Given the description of an element on the screen output the (x, y) to click on. 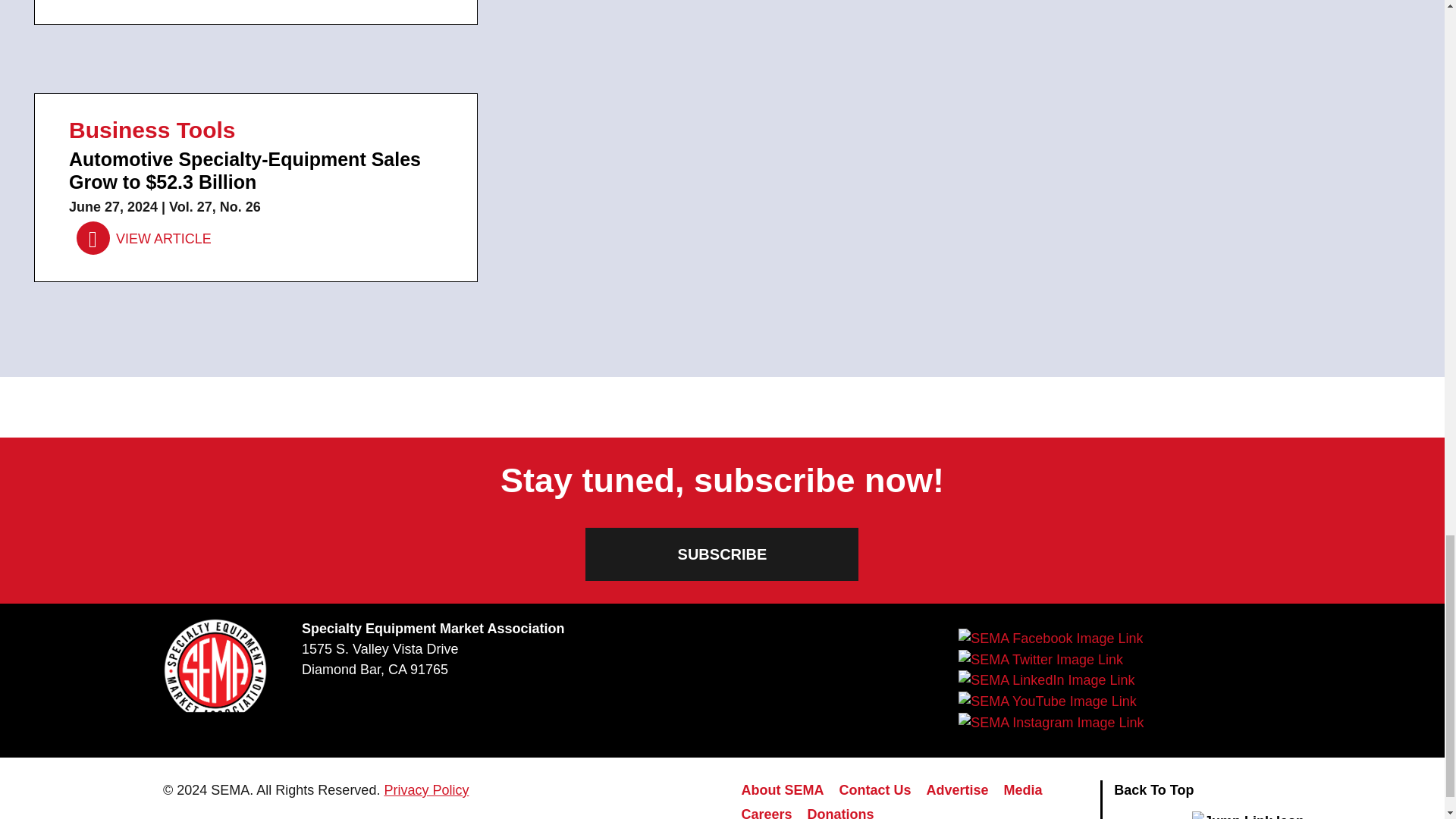
SUBSCRIBE (722, 553)
SEMA YouTube Link (1046, 701)
SEMA Facebook Link (1050, 638)
SEMA LinkedIn Link (1046, 680)
SEMA Twitter Link (1040, 659)
Privacy Policy (426, 789)
SEMA Instagram Link (1050, 722)
VIEW ARTICLE (143, 238)
